Given the description of an element on the screen output the (x, y) to click on. 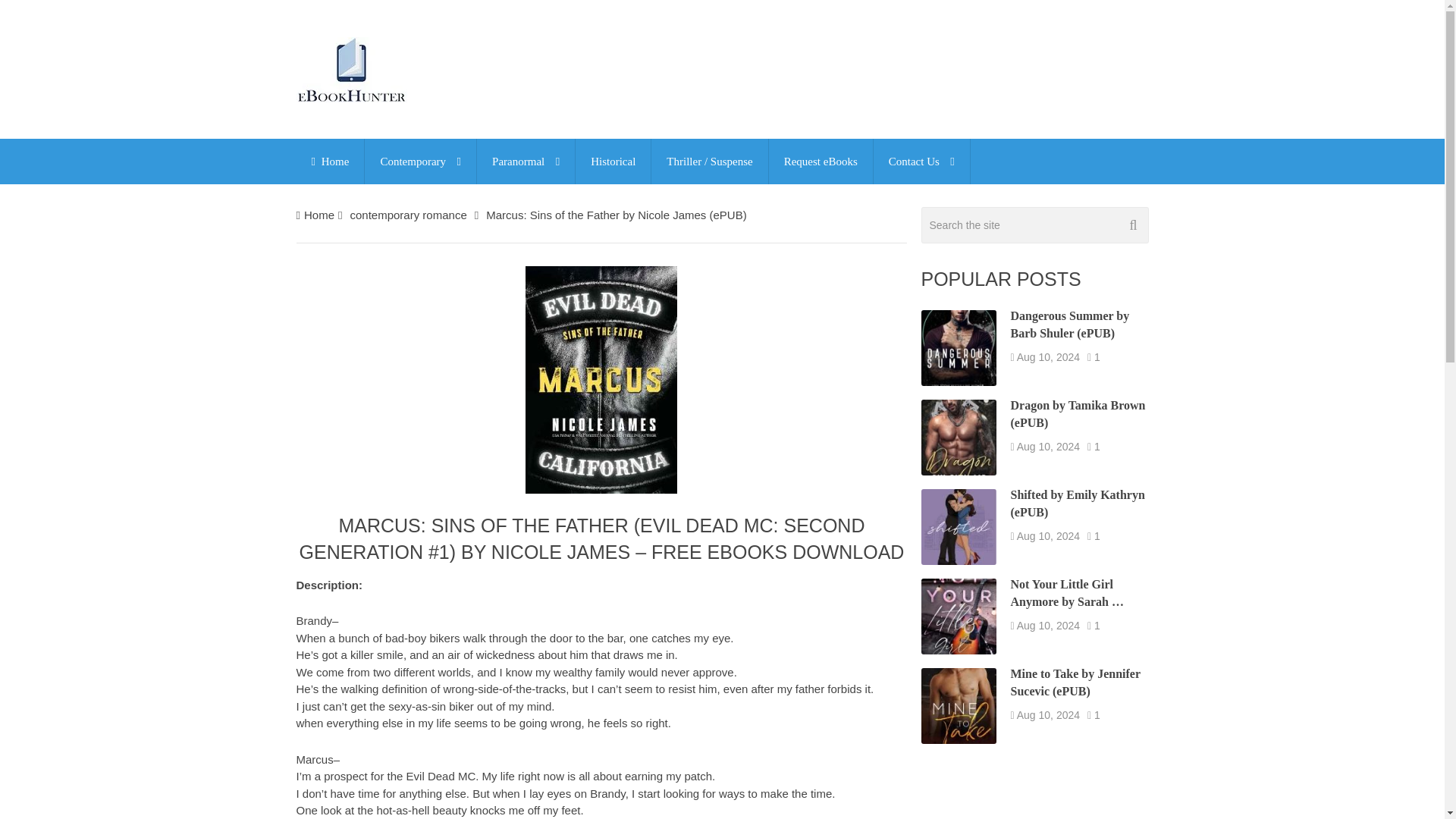
Home (319, 214)
Historical (612, 161)
Home (329, 161)
Contact Us (921, 161)
Request eBooks (820, 161)
Contemporary (420, 161)
Paranormal (526, 161)
contemporary romance (407, 214)
